Given the description of an element on the screen output the (x, y) to click on. 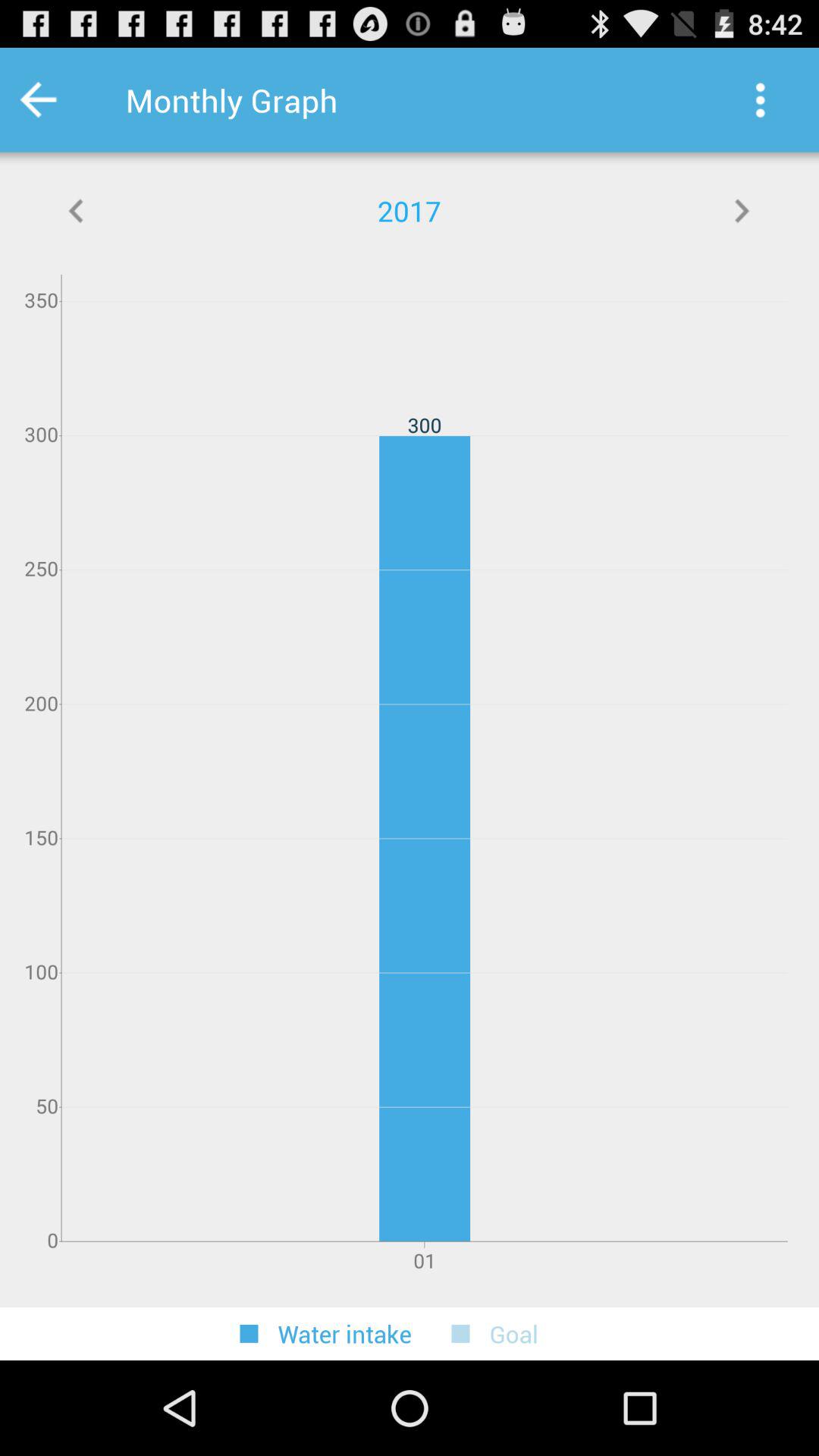
view page options (760, 100)
